Given the description of an element on the screen output the (x, y) to click on. 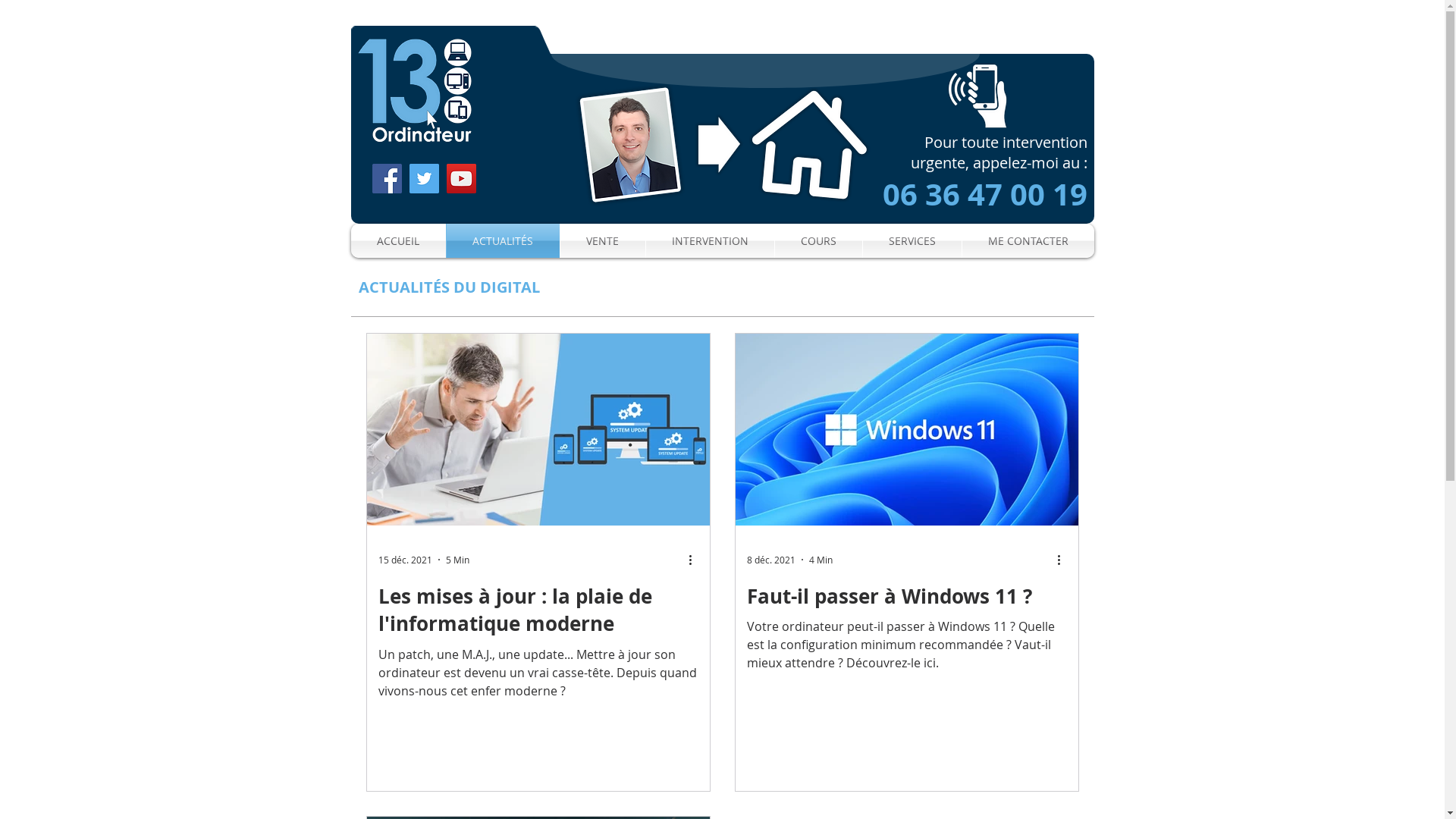
SERVICES Element type: text (911, 240)
VENTE Element type: text (601, 240)
06 36 47 00 19 Element type: text (984, 200)
INTERVENTION Element type: text (710, 240)
ACCUEIL Element type: text (397, 240)
Telephone-13-Ordinateur.png Element type: hover (976, 95)
Deplacement-Domicile.png Element type: hover (721, 144)
COURS Element type: text (818, 240)
ME CONTACTER Element type: text (1027, 240)
